Given the description of an element on the screen output the (x, y) to click on. 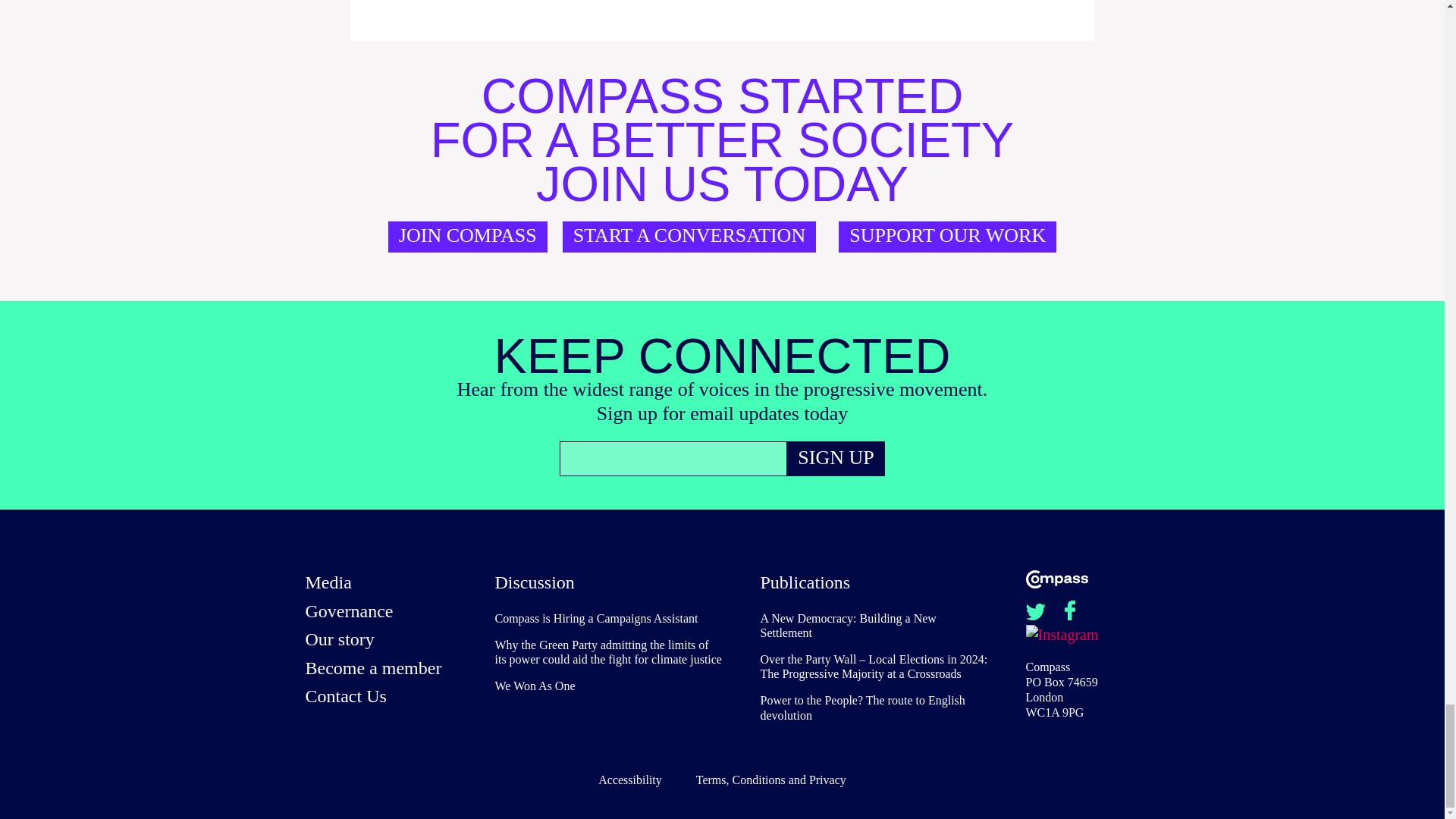
Our story (380, 641)
START A CONVERSATION (688, 236)
Join Compass (467, 236)
SIGN UP (835, 458)
Contact Us (380, 697)
Donate to compass (947, 236)
SUPPORT OUR WORK (947, 236)
Become a member (380, 670)
Discussion on the blog (534, 582)
